Given the description of an element on the screen output the (x, y) to click on. 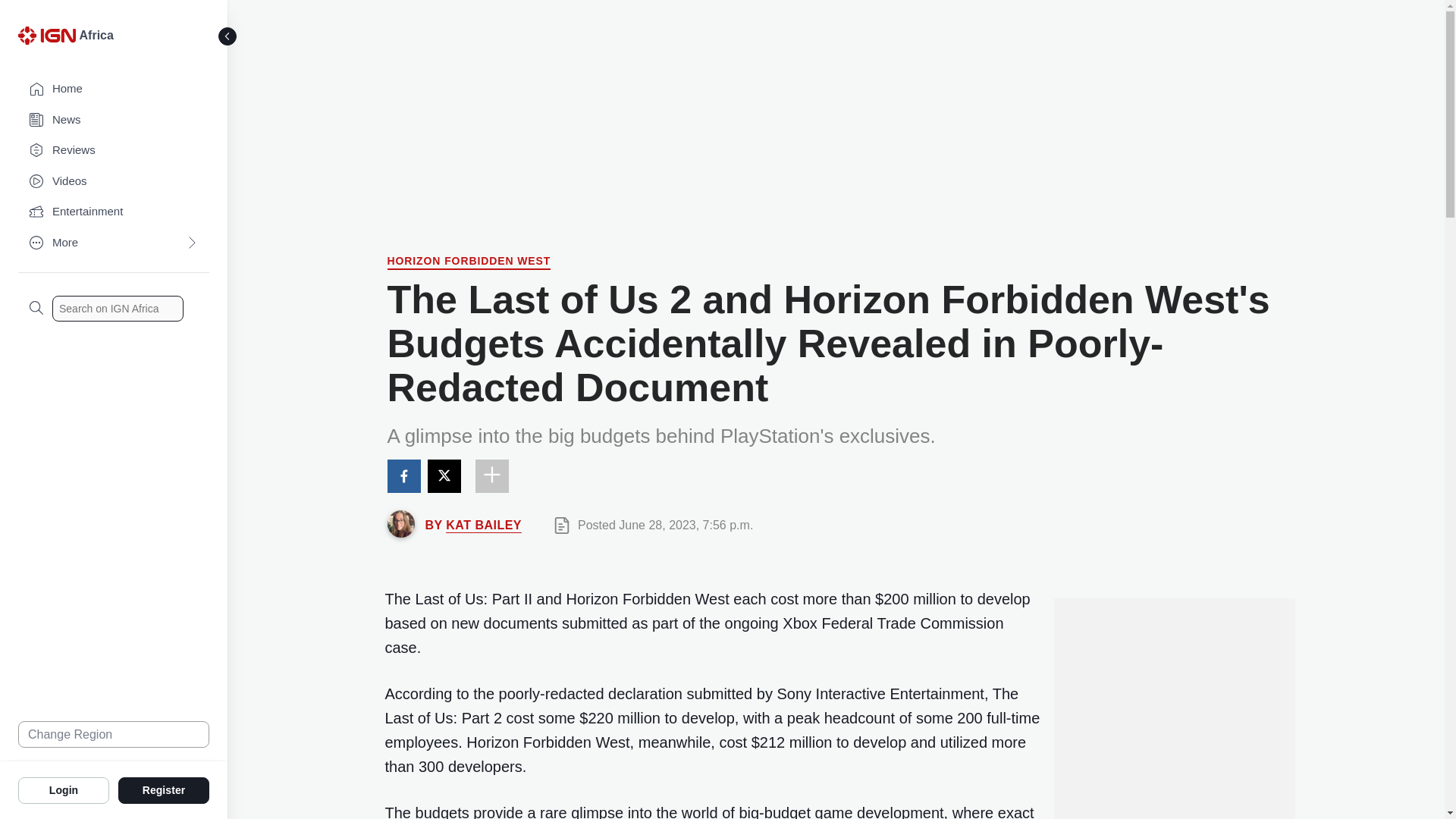
Videos (113, 181)
More (113, 242)
IGN Logo (48, 39)
Horizon Forbidden West (468, 262)
IGN Logo (46, 34)
Entertainment (113, 211)
Login (63, 789)
HORIZON FORBIDDEN WEST (468, 262)
3rd party ad content (1173, 708)
Reviews (113, 150)
Register (163, 789)
Home (113, 89)
News (113, 119)
3rd party ad content (835, 110)
